Given the description of an element on the screen output the (x, y) to click on. 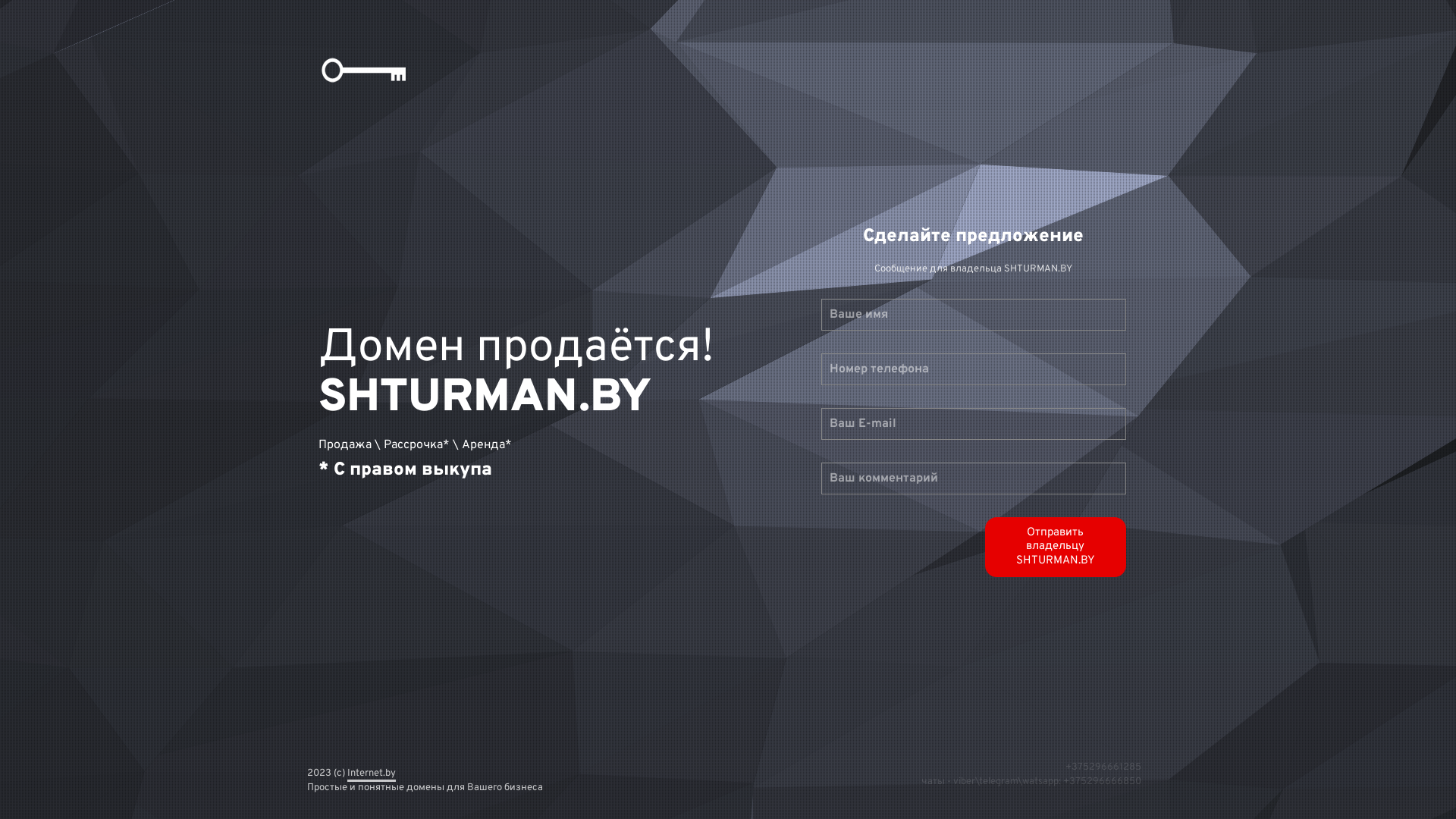
+375296661285 Element type: text (1103, 766)
Internet.by Element type: text (371, 770)
LiveInternet Element type: hover (0, 6)
